Given the description of an element on the screen output the (x, y) to click on. 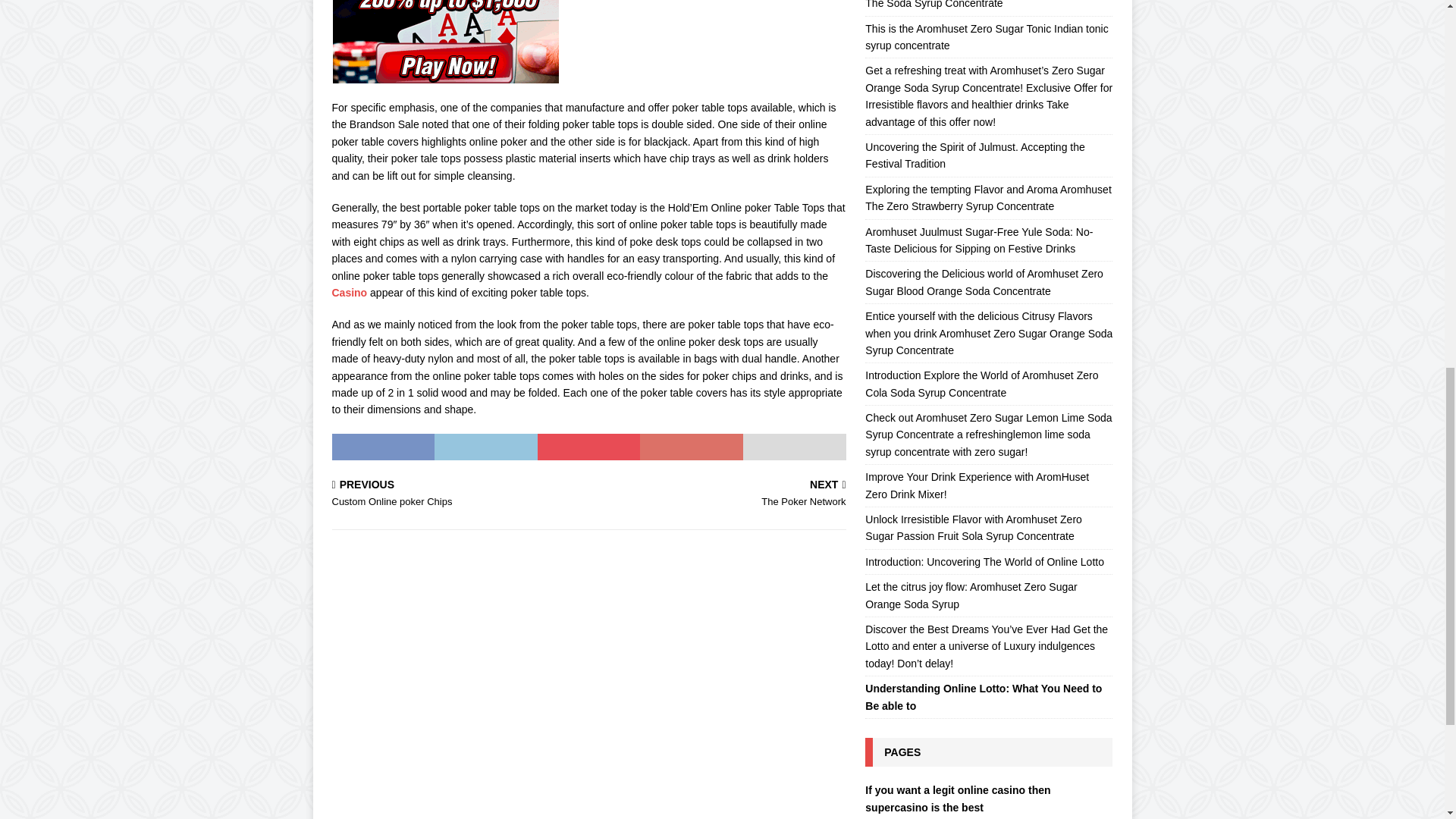
Casino (349, 292)
